Given the description of an element on the screen output the (x, y) to click on. 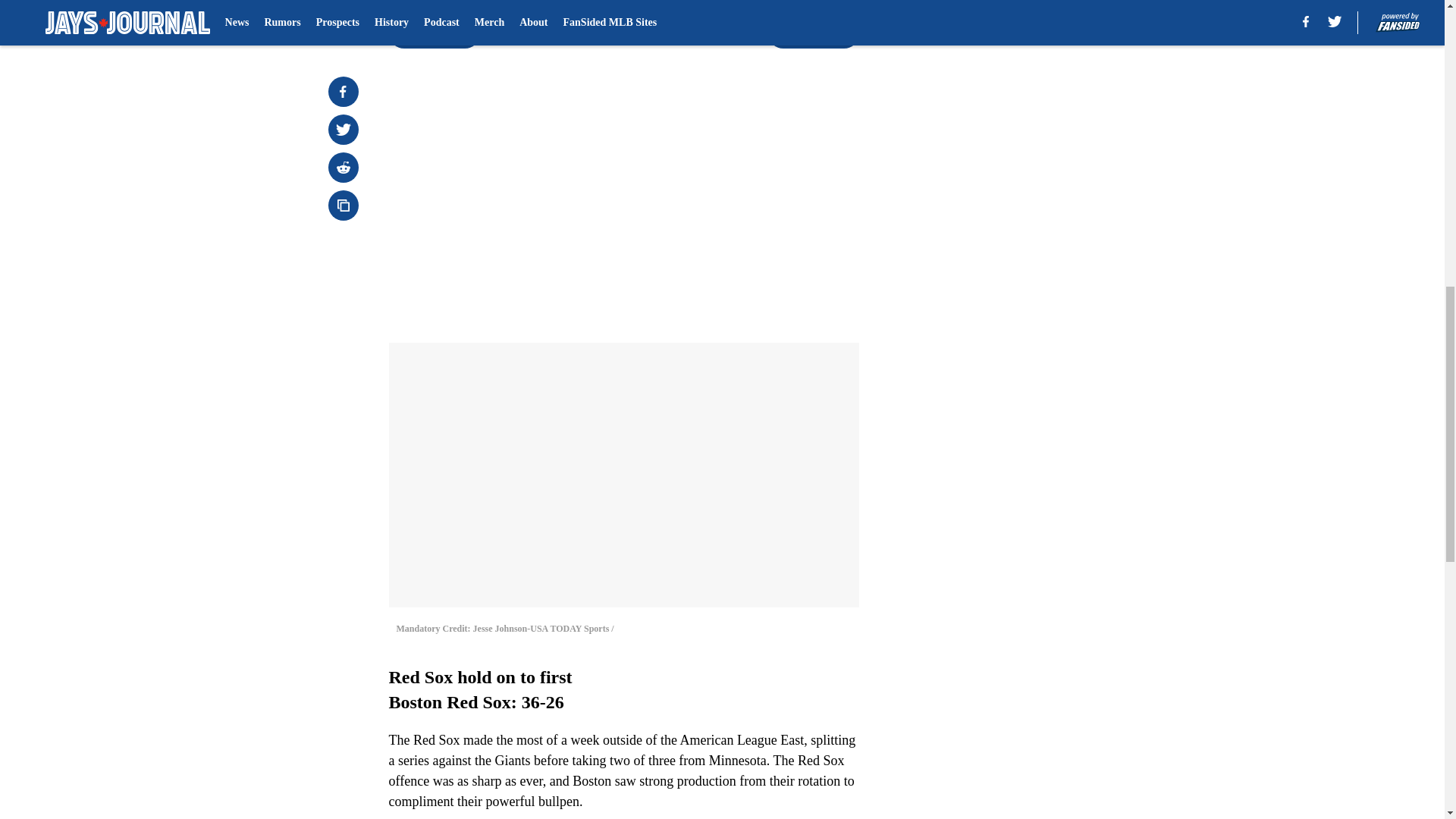
Prev (433, 33)
Next (813, 33)
